Given the description of an element on the screen output the (x, y) to click on. 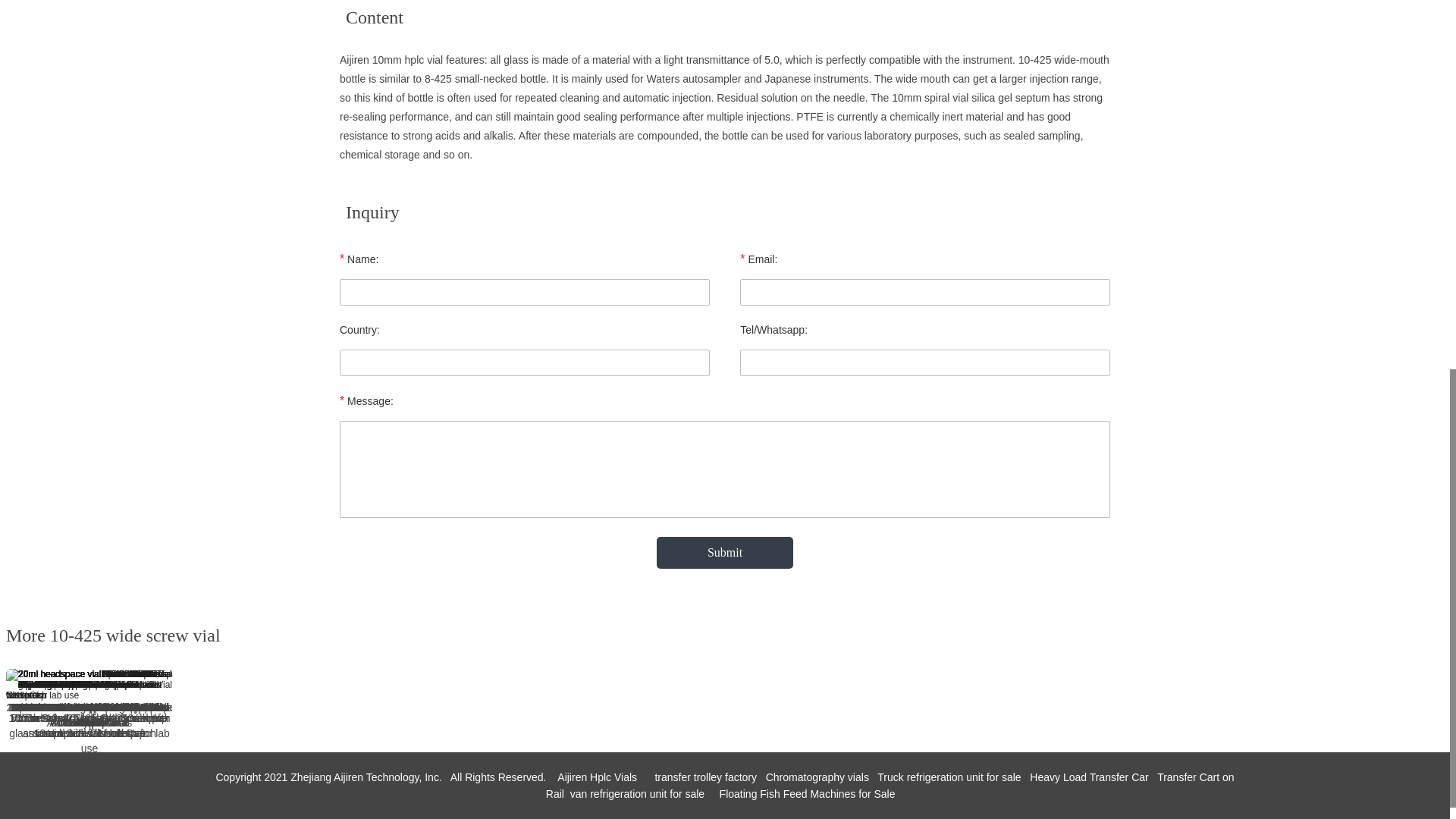
Submit (724, 552)
